Given the description of an element on the screen output the (x, y) to click on. 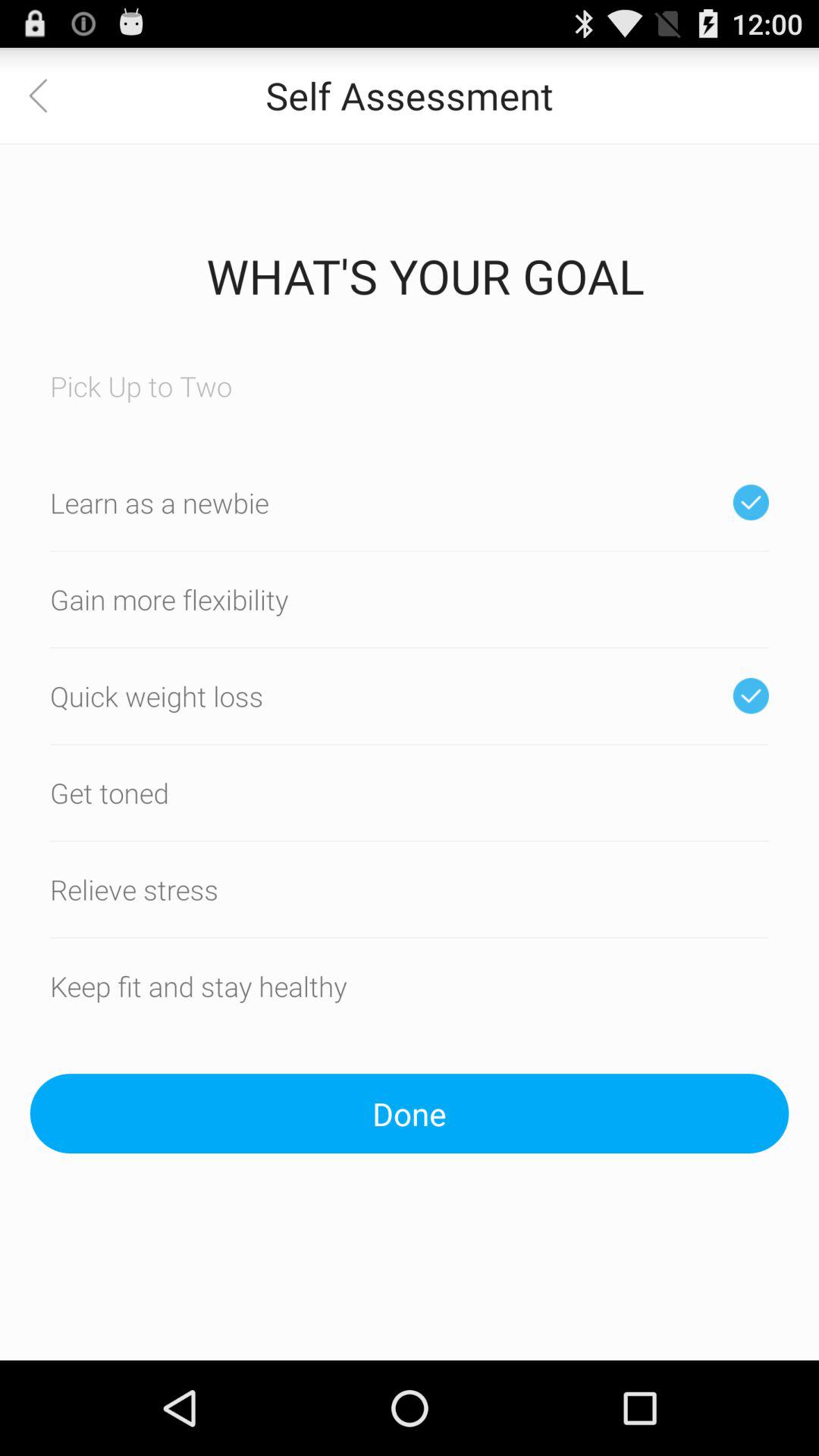
go back (47, 95)
